Given the description of an element on the screen output the (x, y) to click on. 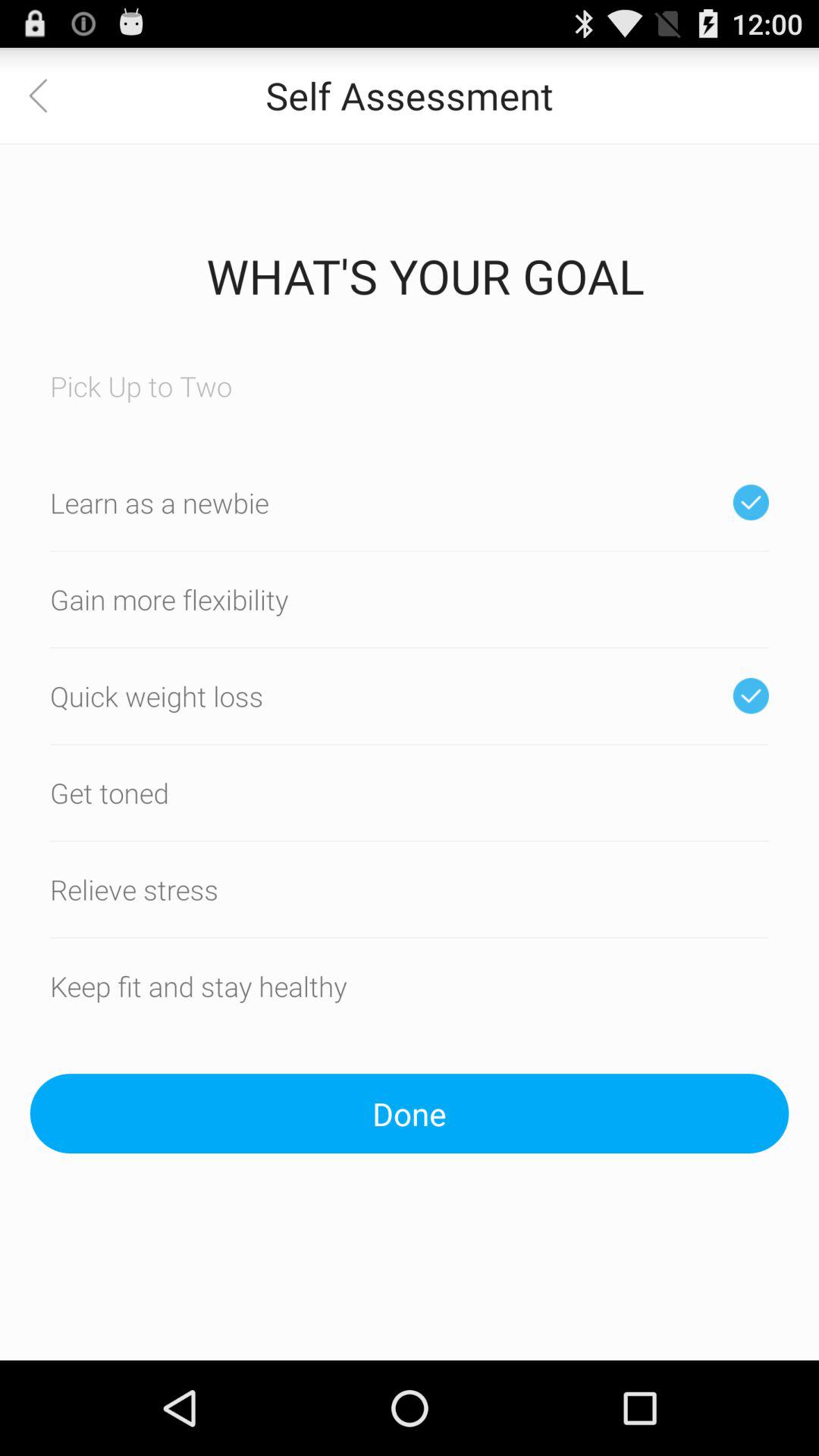
go back (47, 95)
